Given the description of an element on the screen output the (x, y) to click on. 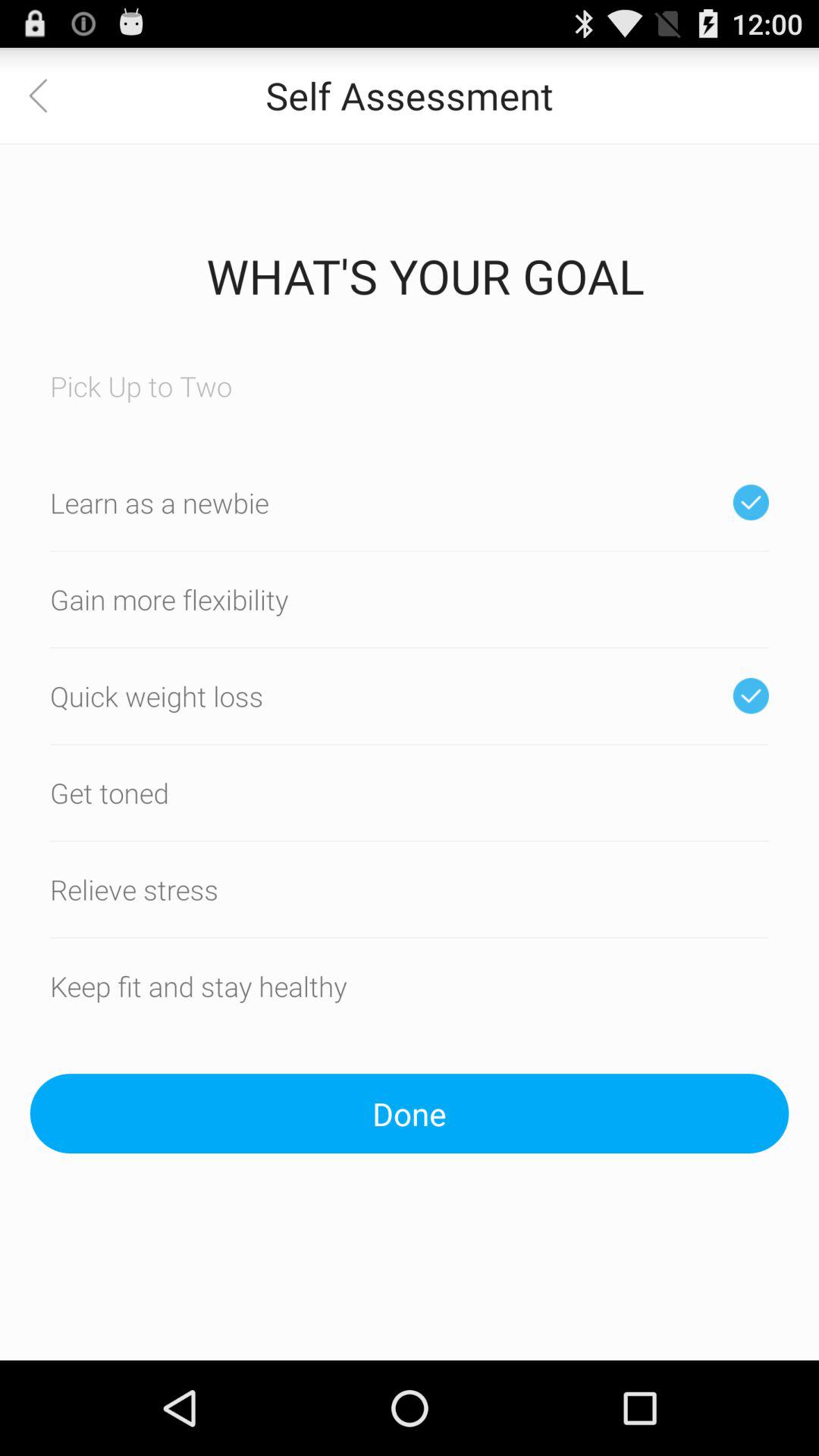
go back (47, 95)
